Given the description of an element on the screen output the (x, y) to click on. 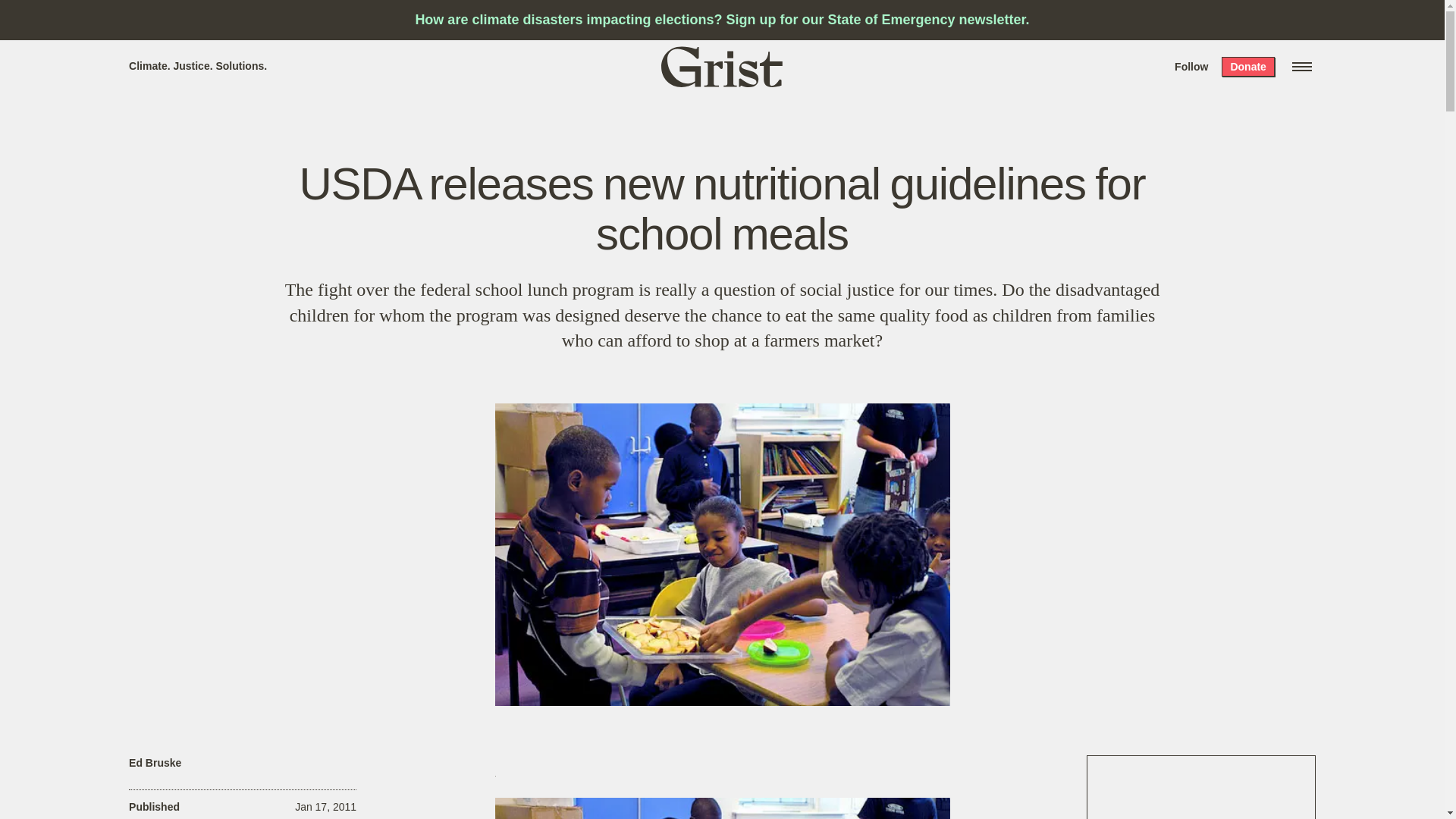
Donate (1247, 66)
Grist home (722, 65)
3rd party ad content (1200, 787)
Search (227, 18)
Follow (1191, 66)
